Given the description of an element on the screen output the (x, y) to click on. 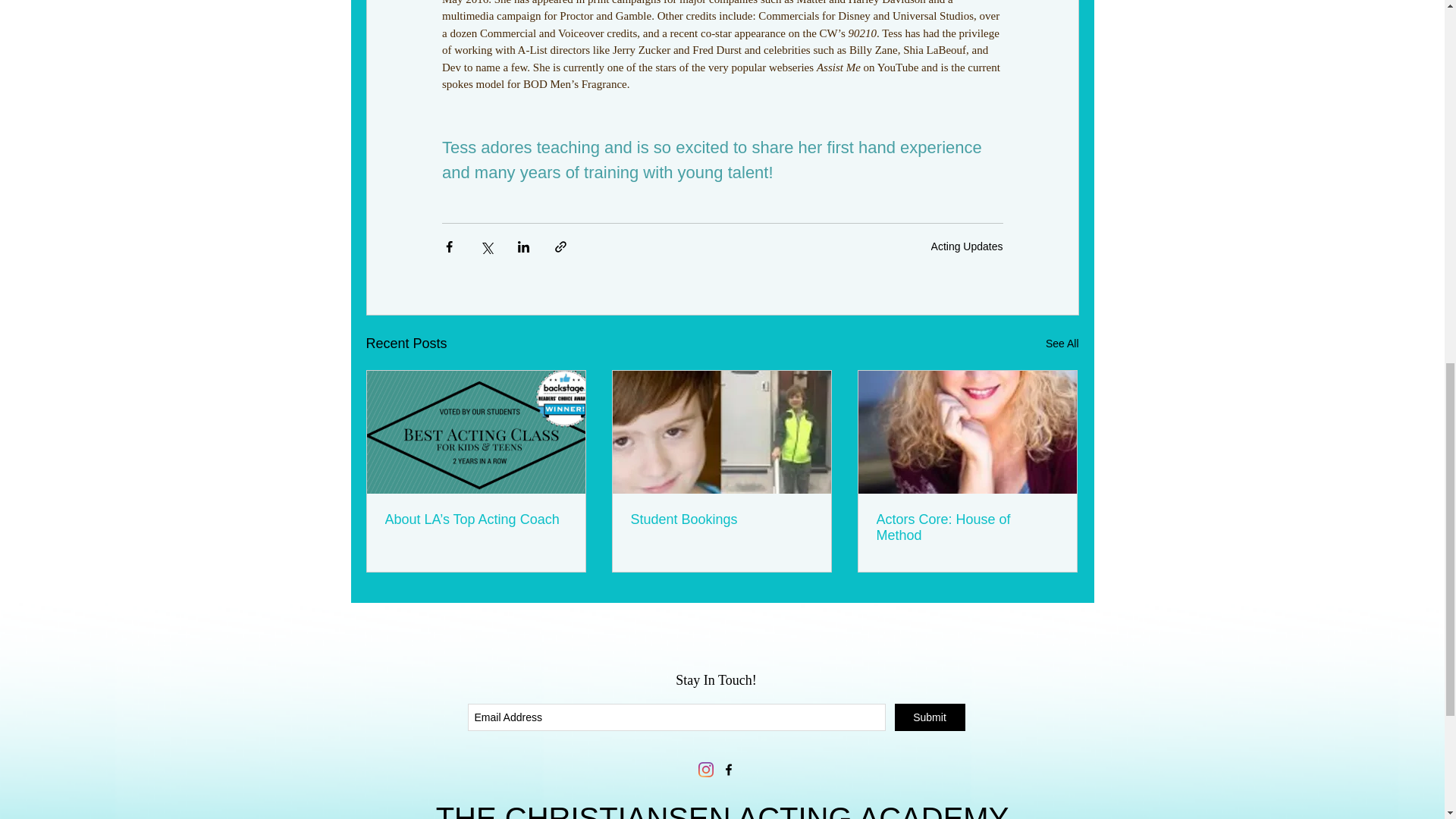
Actors Core: House of Method (967, 527)
Student Bookings (721, 519)
Submit (930, 717)
See All (1061, 343)
Acting Updates (967, 245)
